Given the description of an element on the screen output the (x, y) to click on. 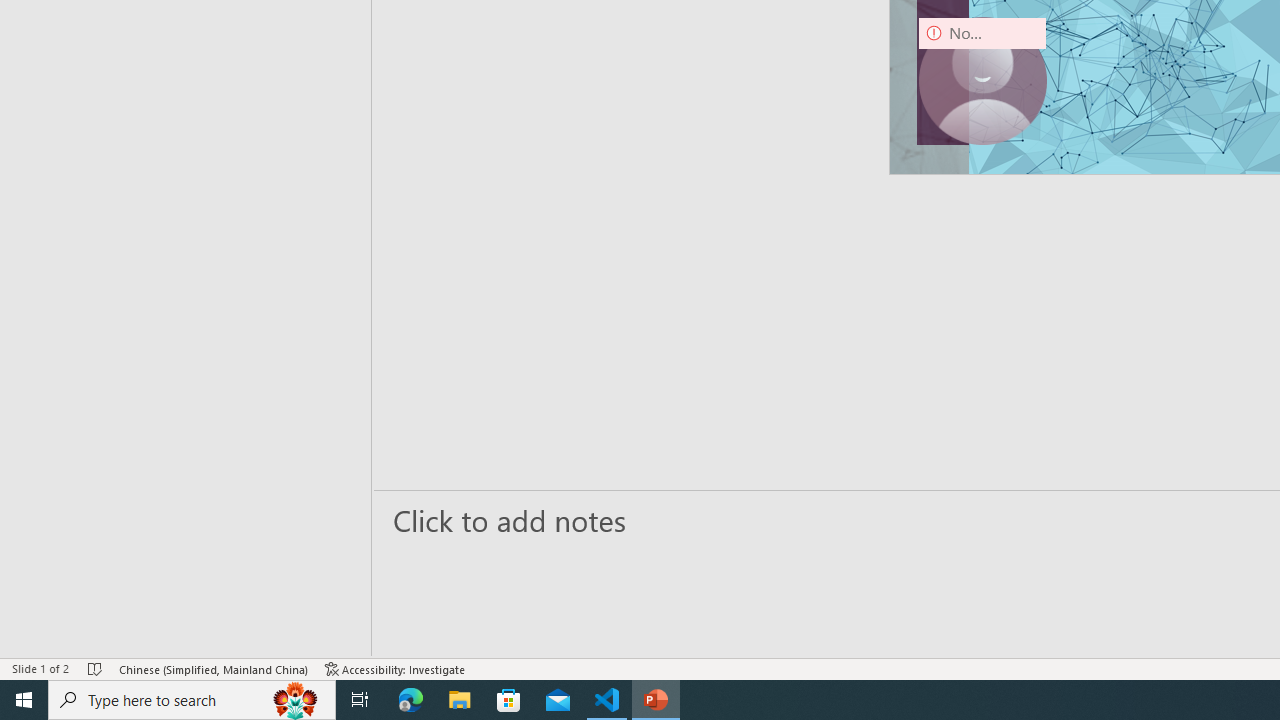
Camera 9, No camera detected. (982, 80)
